Given the description of an element on the screen output the (x, y) to click on. 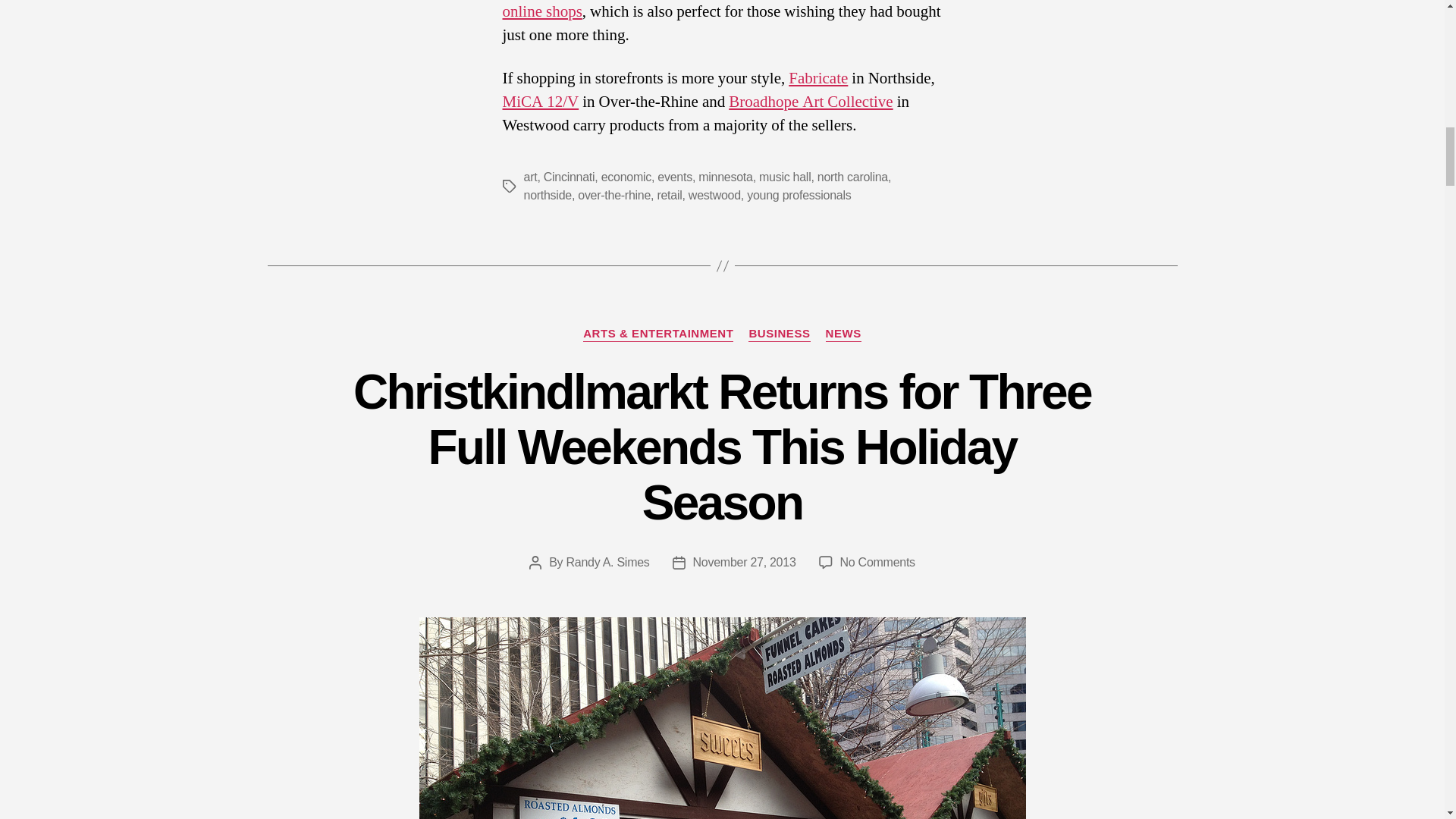
Broadhope Art Collective (810, 101)
Cincinnati (569, 176)
Fabricate (818, 77)
economic (625, 176)
art (529, 176)
All of the vendors have online shops (715, 11)
events (675, 176)
